Given the description of an element on the screen output the (x, y) to click on. 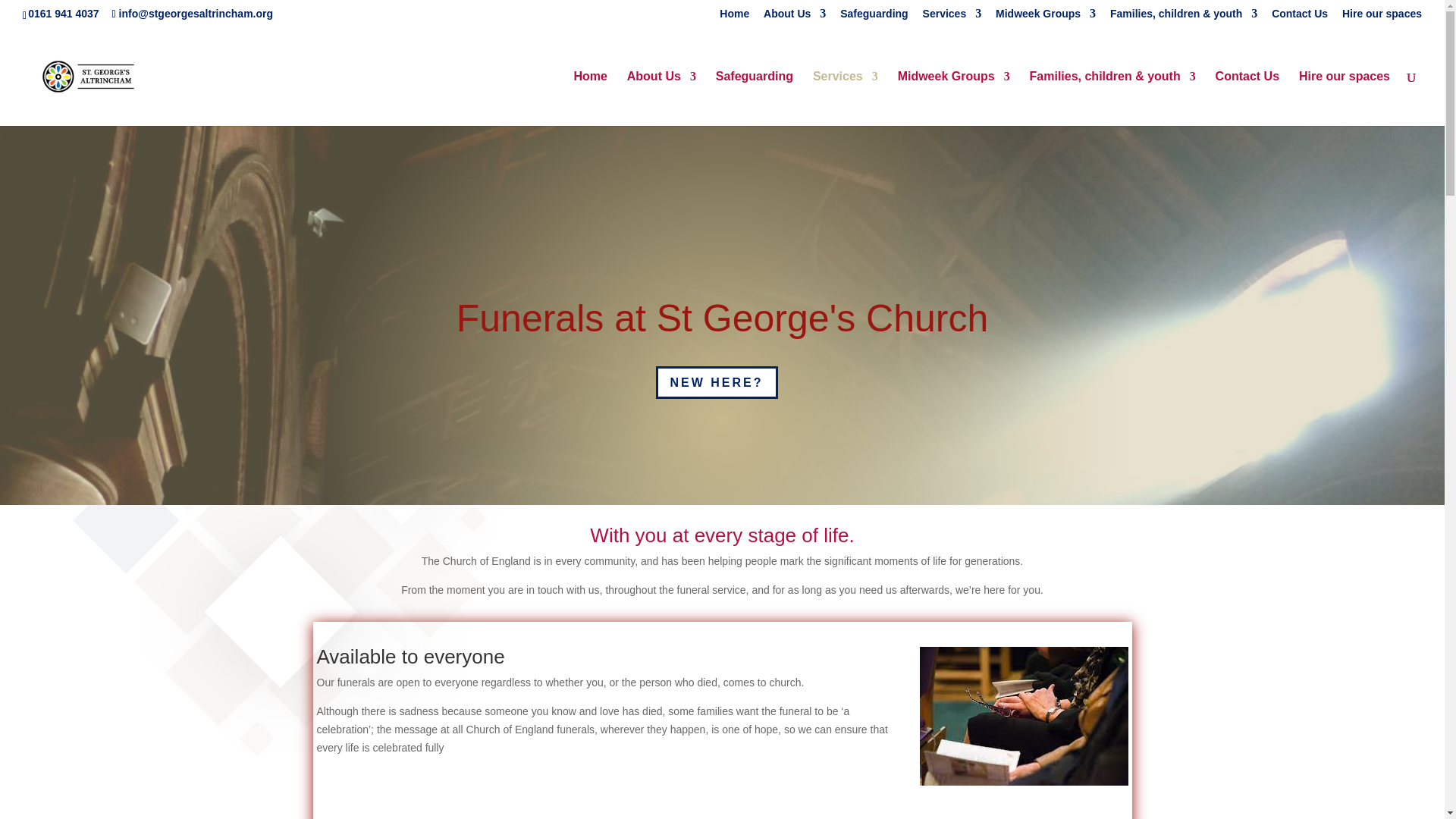
Home (734, 16)
Midweek Groups (1045, 16)
Services (952, 16)
Safeguarding (873, 16)
About Us (793, 16)
